Given the description of an element on the screen output the (x, y) to click on. 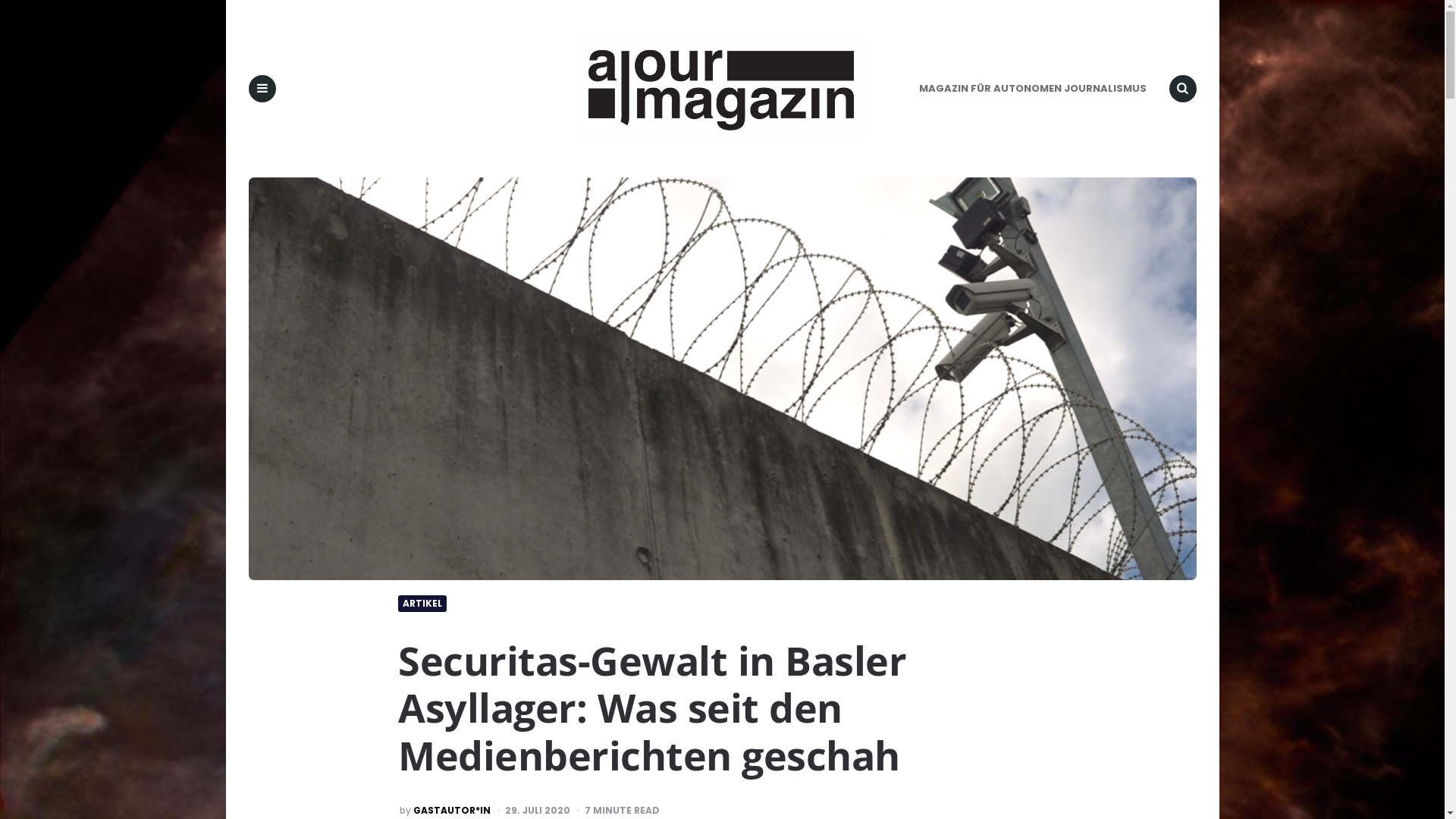
ARTIKEL Element type: text (422, 603)
GASTAUTOR*IN Element type: text (451, 810)
